Given the description of an element on the screen output the (x, y) to click on. 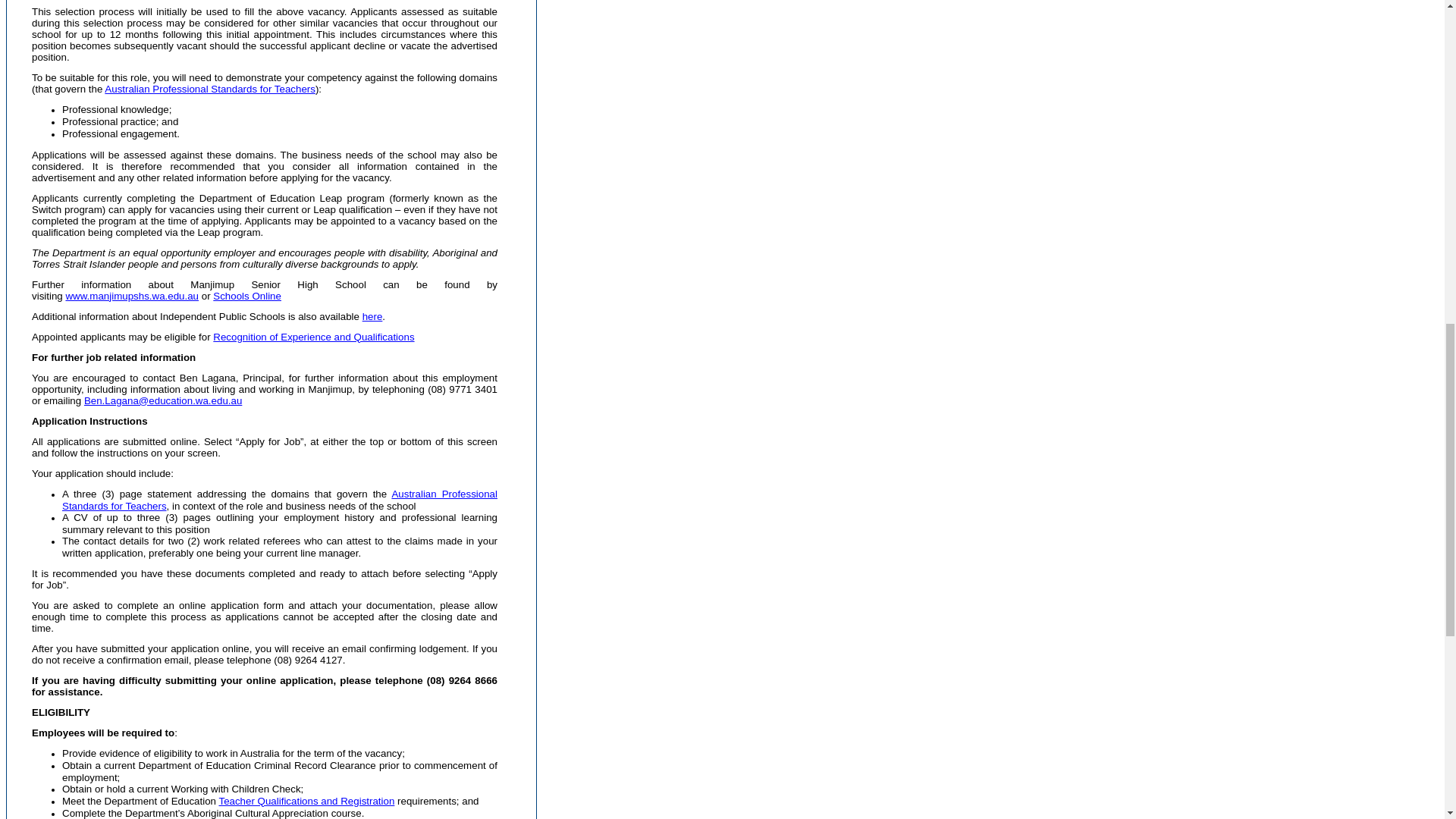
www.manjimupshs.wa.edu.au (131, 295)
here (372, 316)
Australian Professional Standards for Teachers (209, 89)
Schools Online (246, 295)
Australian Professional Standards for Teachers (279, 499)
Teacher Qualifications and Registration (306, 799)
Recognition of Experience and Qualifications (312, 336)
